Given the description of an element on the screen output the (x, y) to click on. 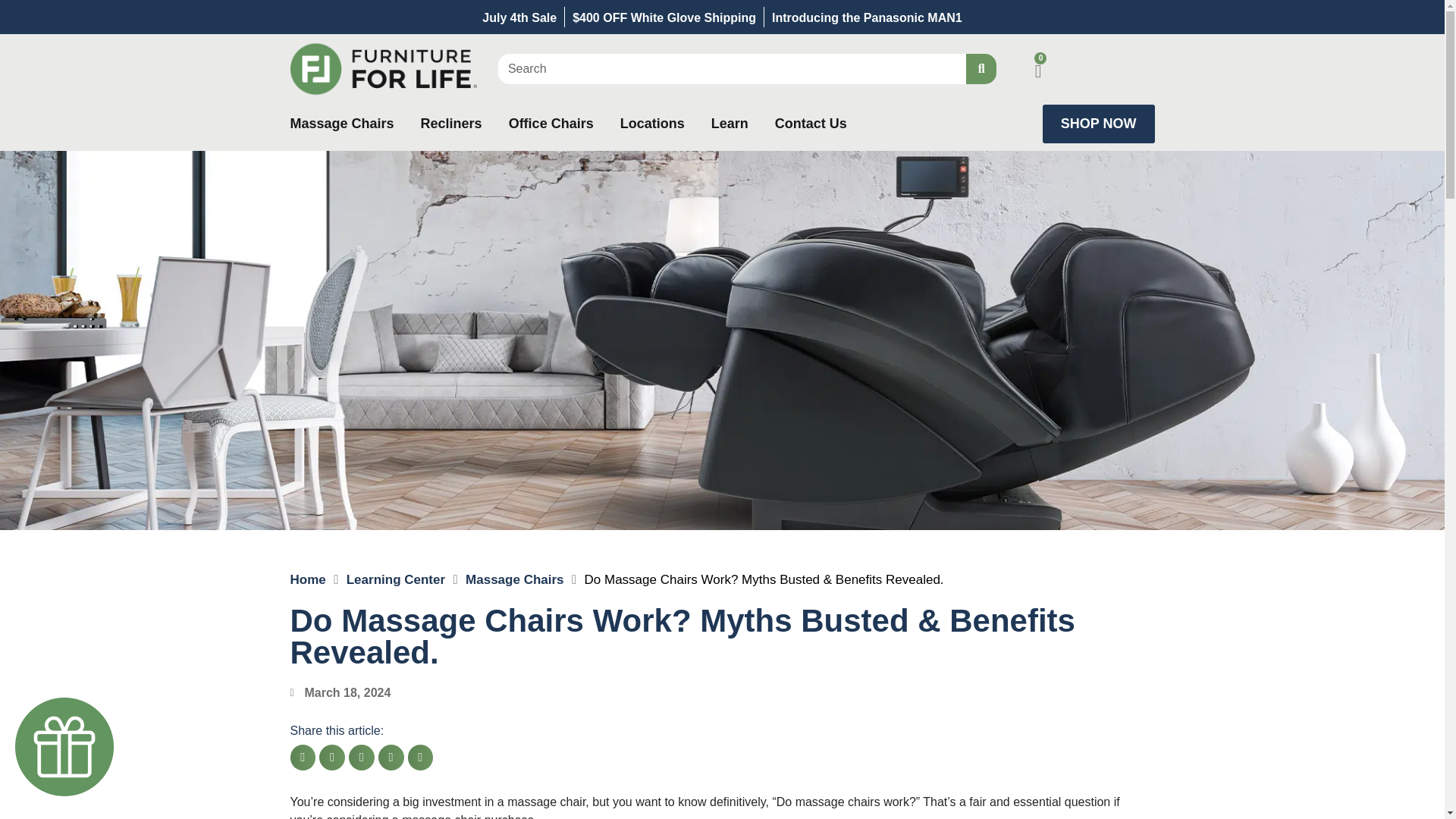
Massage Chairs (341, 123)
Recliners (450, 123)
Learning Center (395, 579)
Locations (652, 123)
Learn (729, 123)
Contact Us (810, 123)
July 4th Sale (518, 18)
Home (306, 579)
Introducing the Panasonic MAN1 (866, 18)
Office Chairs (551, 123)
Massage Chairs (514, 579)
